Given the description of an element on the screen output the (x, y) to click on. 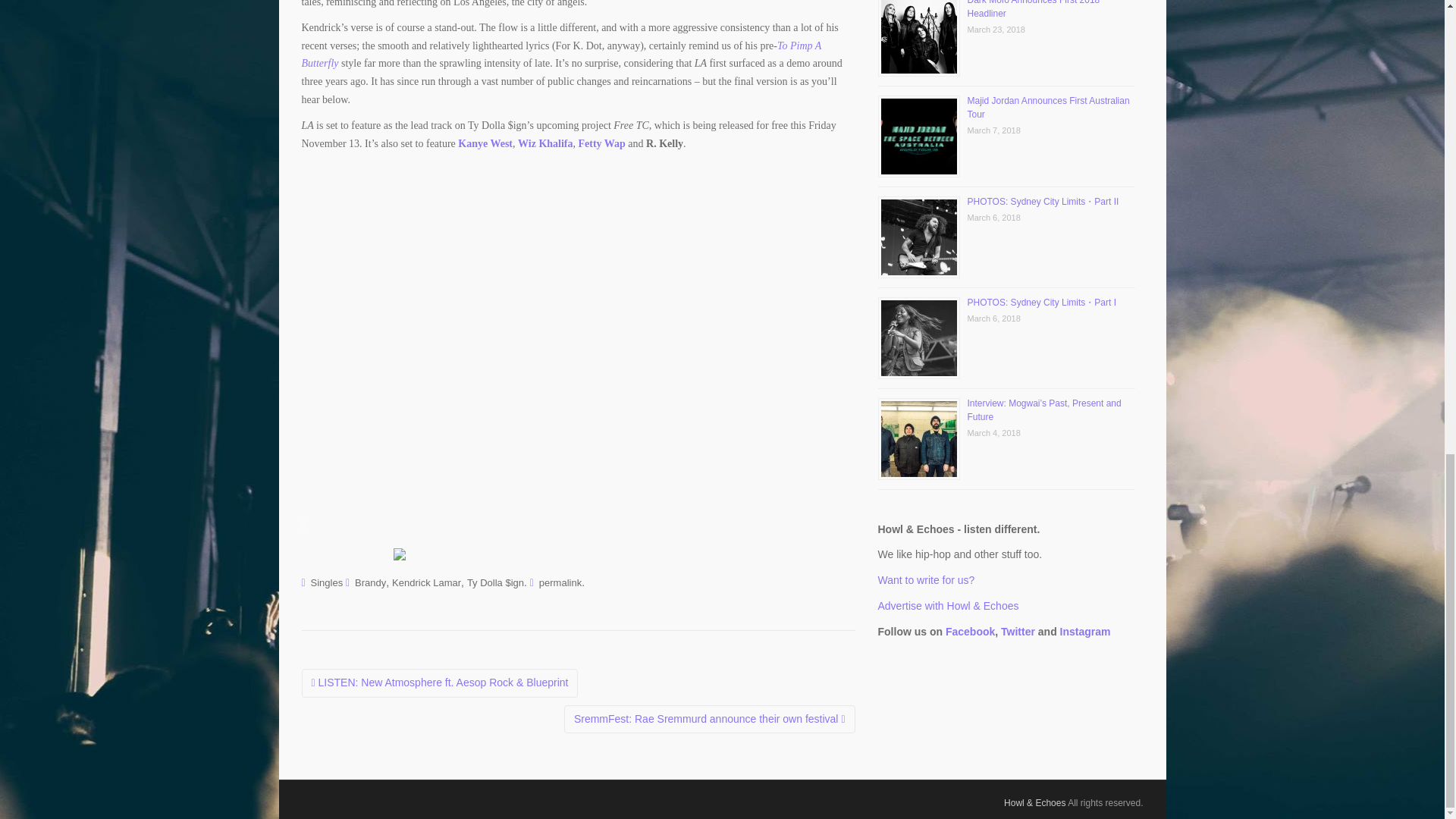
To Pimp A Butterfly (561, 54)
